Given the description of an element on the screen output the (x, y) to click on. 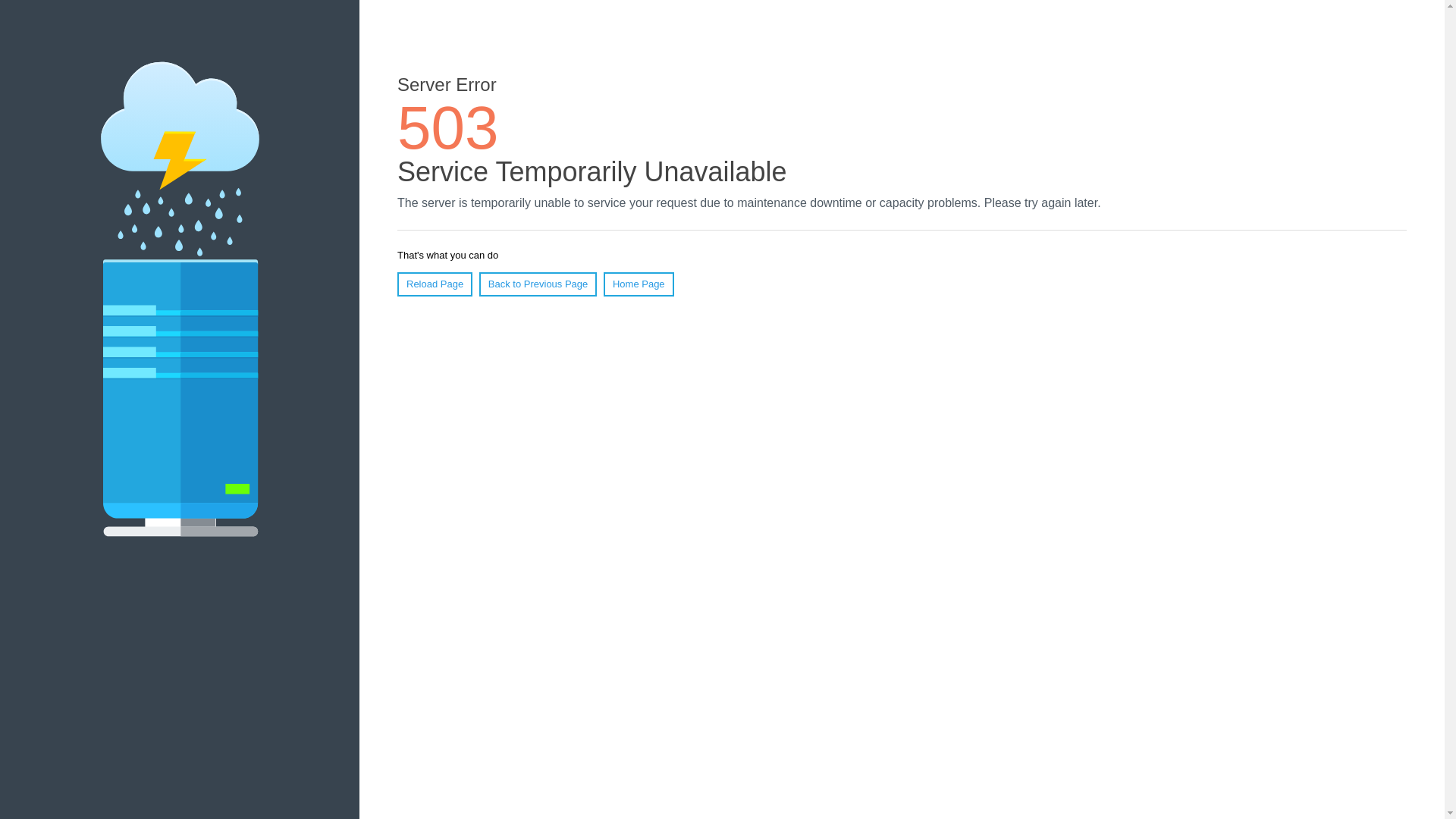
Back to Previous Page Element type: text (538, 284)
Home Page Element type: text (638, 284)
Reload Page Element type: text (434, 284)
